Given the description of an element on the screen output the (x, y) to click on. 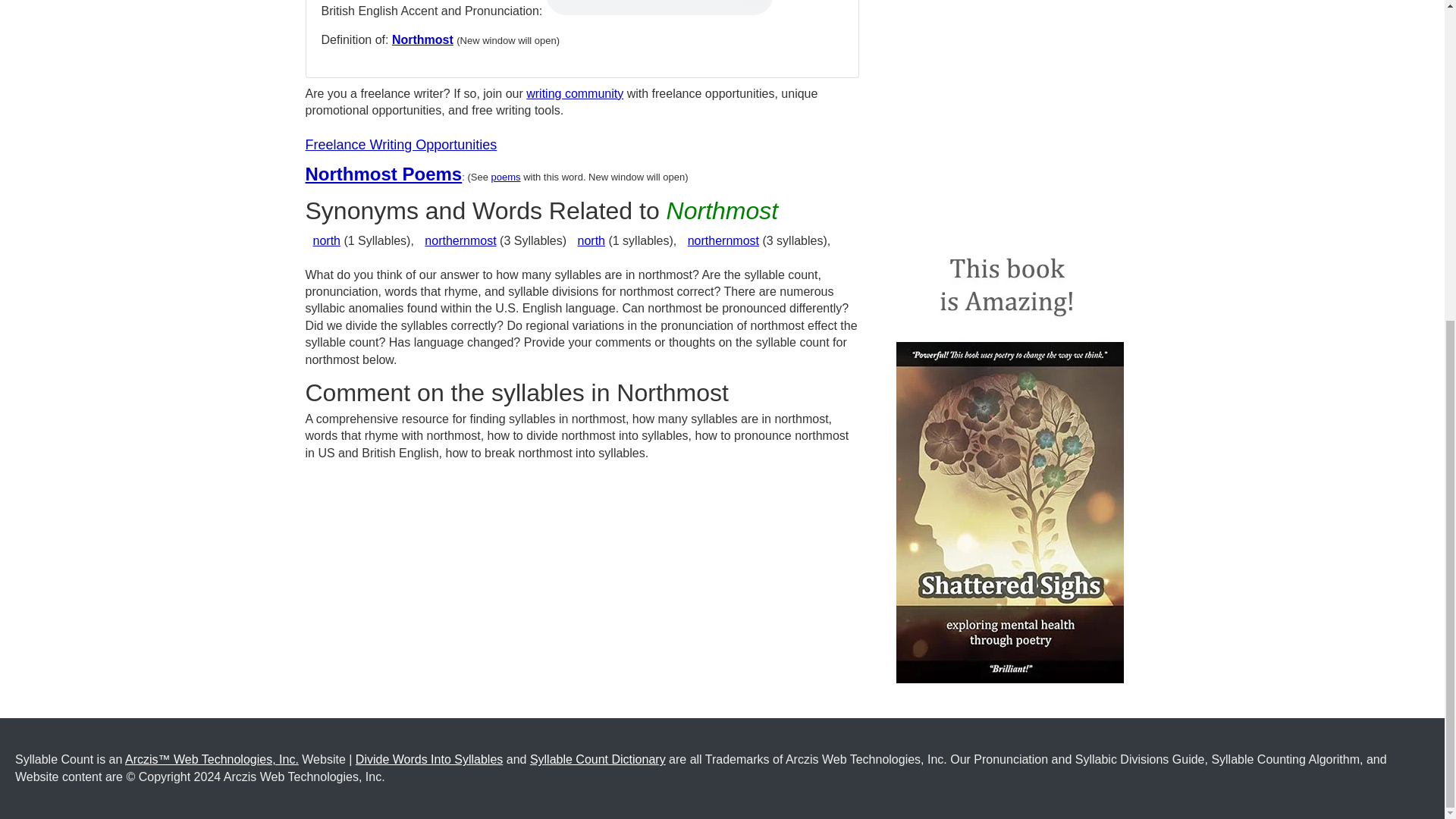
poems (506, 176)
Northmost Poems (382, 173)
northernmost (460, 240)
Northmost (421, 39)
Advertisement (1010, 107)
How many syllables are in Northernmost (460, 240)
How many syllables are in Northernmost (722, 240)
Freelance Writing Opportunities (400, 144)
north (591, 240)
How many syllables are in North (326, 240)
